Given the description of an element on the screen output the (x, y) to click on. 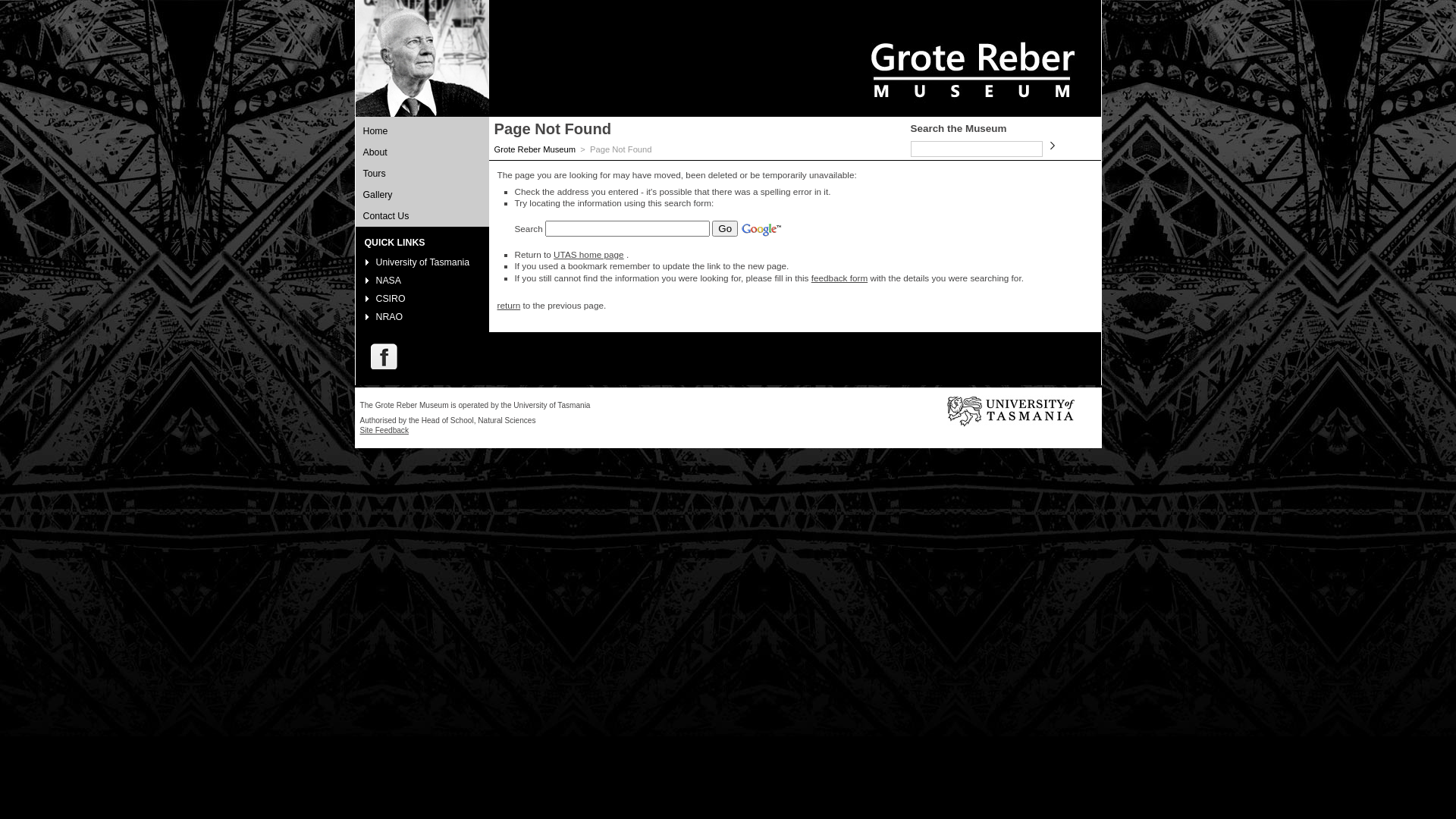
NRAO Element type: text (389, 316)
UTAS home page Element type: text (588, 254)
Grote Reber home Element type: hover (971, 106)
CSIRO Element type: text (390, 298)
feedback form Element type: text (839, 277)
return Element type: text (508, 305)
Site Feedback Element type: text (383, 430)
Tours Element type: text (421, 173)
Grote Reber Museum Element type: text (535, 148)
  Element type: text (379, 356)
Contact Us Element type: text (421, 215)
Home Element type: text (421, 130)
NASA Element type: text (388, 280)
University of Tasmania Element type: text (423, 262)
Go Element type: text (724, 228)
Gallery Element type: text (421, 194)
About Element type: text (421, 152)
